Given the description of an element on the screen output the (x, y) to click on. 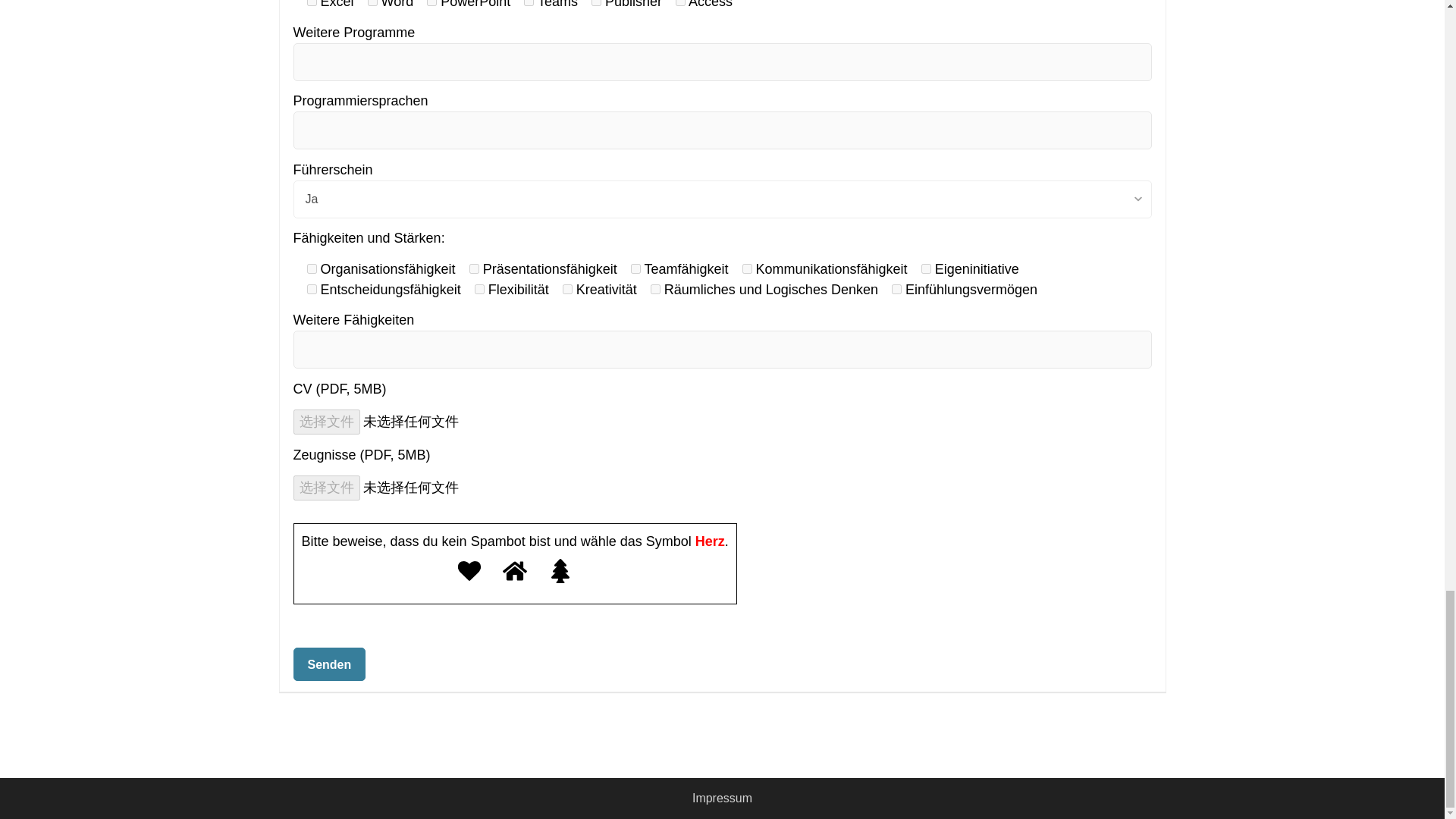
Excel (310, 2)
Access (680, 2)
Teams (529, 2)
Word (372, 2)
Impressum (722, 797)
Publisher (596, 2)
PowerPoint (431, 2)
Senden (328, 663)
